Given the description of an element on the screen output the (x, y) to click on. 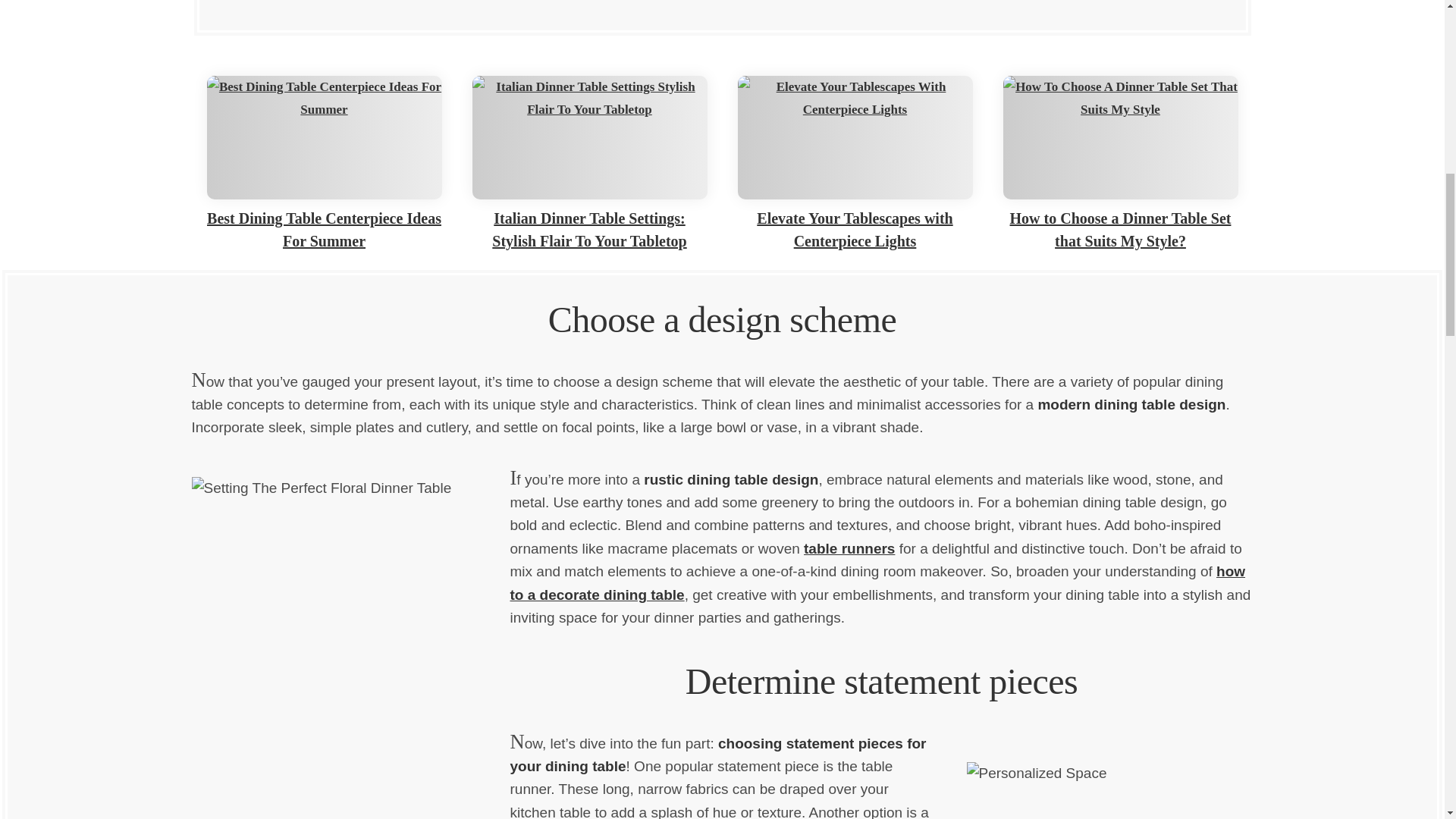
italian dinner table settings stylish flair to your tabletop (588, 137)
Setting The Perfect Floral Dinner Table (349, 642)
Personalized Space (1093, 774)
how to choose a dinner table set that suits my style (1120, 137)
best dining table centerpiece ideas for summer (323, 137)
elevate your tablescapes with centerpiece lights (854, 137)
